Given the description of an element on the screen output the (x, y) to click on. 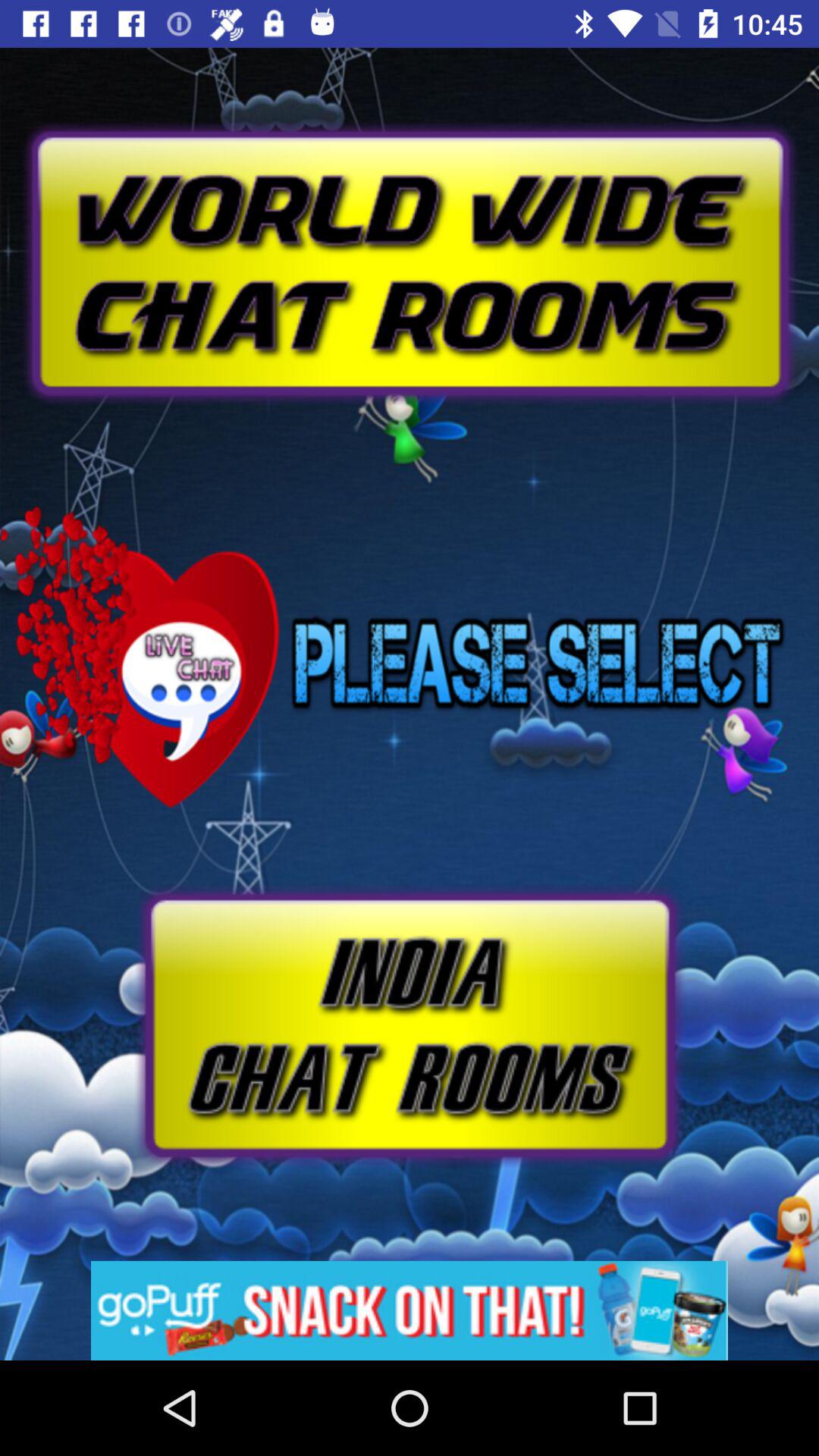
advertisement banner would take off site (409, 1310)
